Given the description of an element on the screen output the (x, y) to click on. 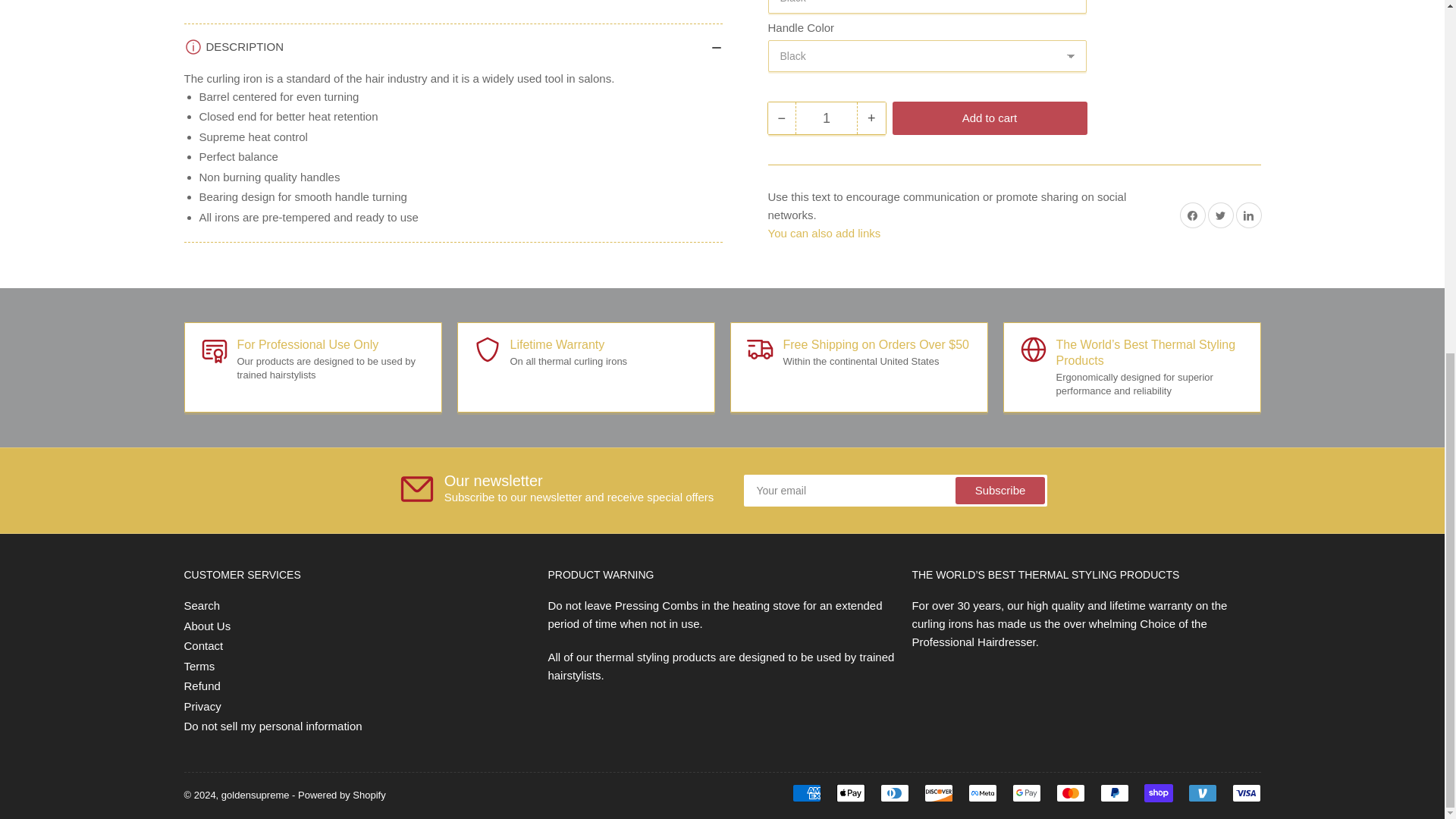
Meta Pay (981, 792)
Google Pay (1026, 792)
Apple Pay (849, 792)
American Express (806, 792)
Discover (937, 792)
Diners Club (893, 792)
